Given the description of an element on the screen output the (x, y) to click on. 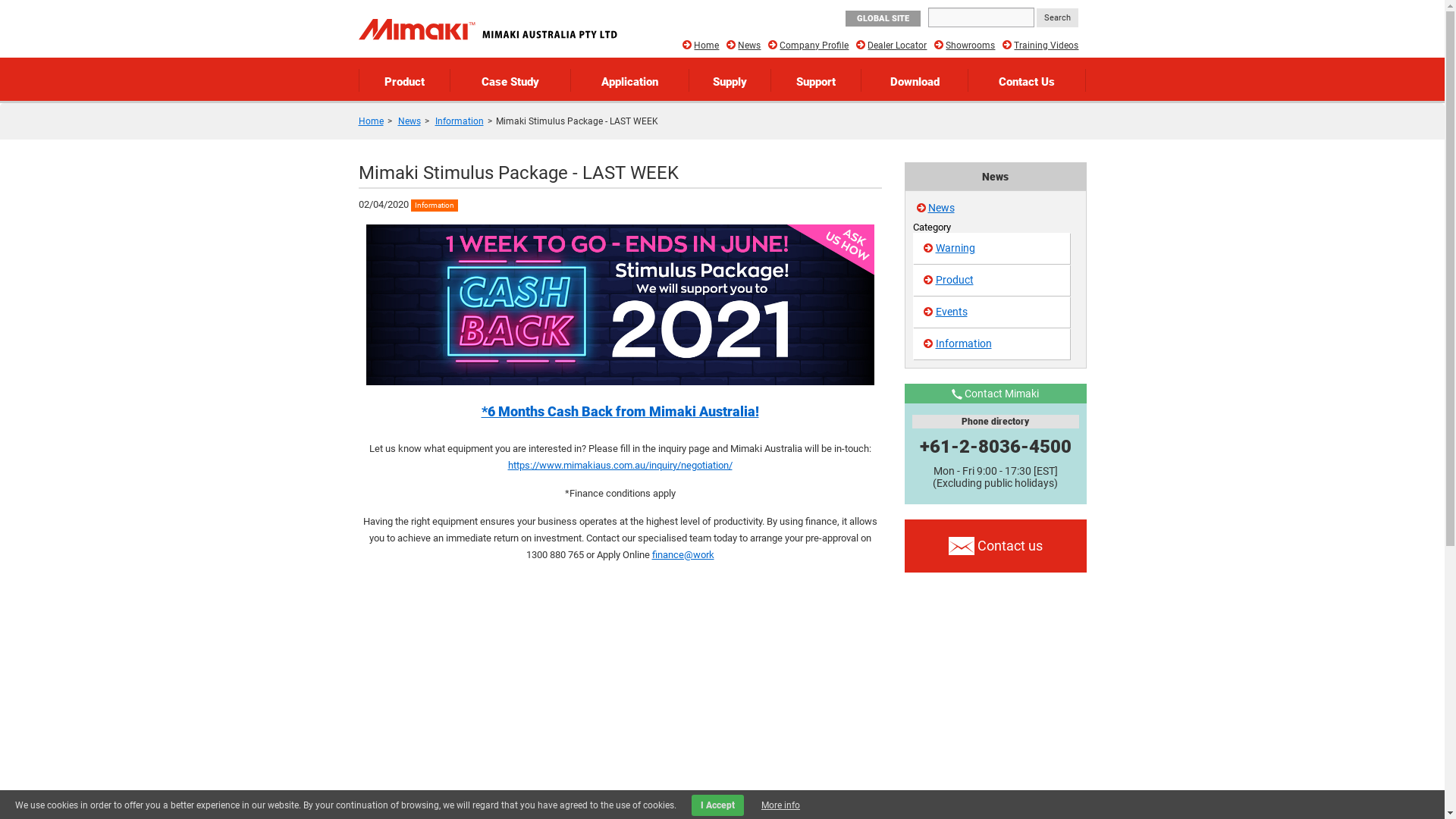
Home Element type: text (369, 121)
Application Element type: text (629, 80)
Home Element type: text (705, 45)
Search Element type: text (1057, 17)
Information Element type: text (991, 343)
Company Profile Element type: text (813, 45)
Contact Us Element type: text (1026, 80)
I Accept Element type: text (717, 804)
News Element type: text (748, 45)
https://www.mimakiaus.com.au/inquiry/negotiation/ Element type: text (620, 464)
GLOBAL SITE Element type: text (882, 18)
Events Element type: text (991, 311)
News Element type: text (941, 207)
Supply Element type: text (729, 80)
*6 Months Cash Back from Mimaki Australia! Element type: text (619, 411)
Dealer Locator Element type: text (896, 45)
Training Videos Element type: text (1045, 45)
Download Element type: text (914, 80)
Contact us Element type: text (994, 545)
Product Element type: text (991, 279)
Warning Element type: text (991, 247)
Product Element type: text (404, 80)
Information Element type: text (459, 121)
More info Element type: text (780, 805)
Case Study Element type: text (509, 80)
finance@work Element type: text (683, 554)
Showrooms Element type: text (969, 45)
Support Element type: text (815, 80)
News Element type: text (408, 121)
Information Element type: text (434, 205)
